Given the description of an element on the screen output the (x, y) to click on. 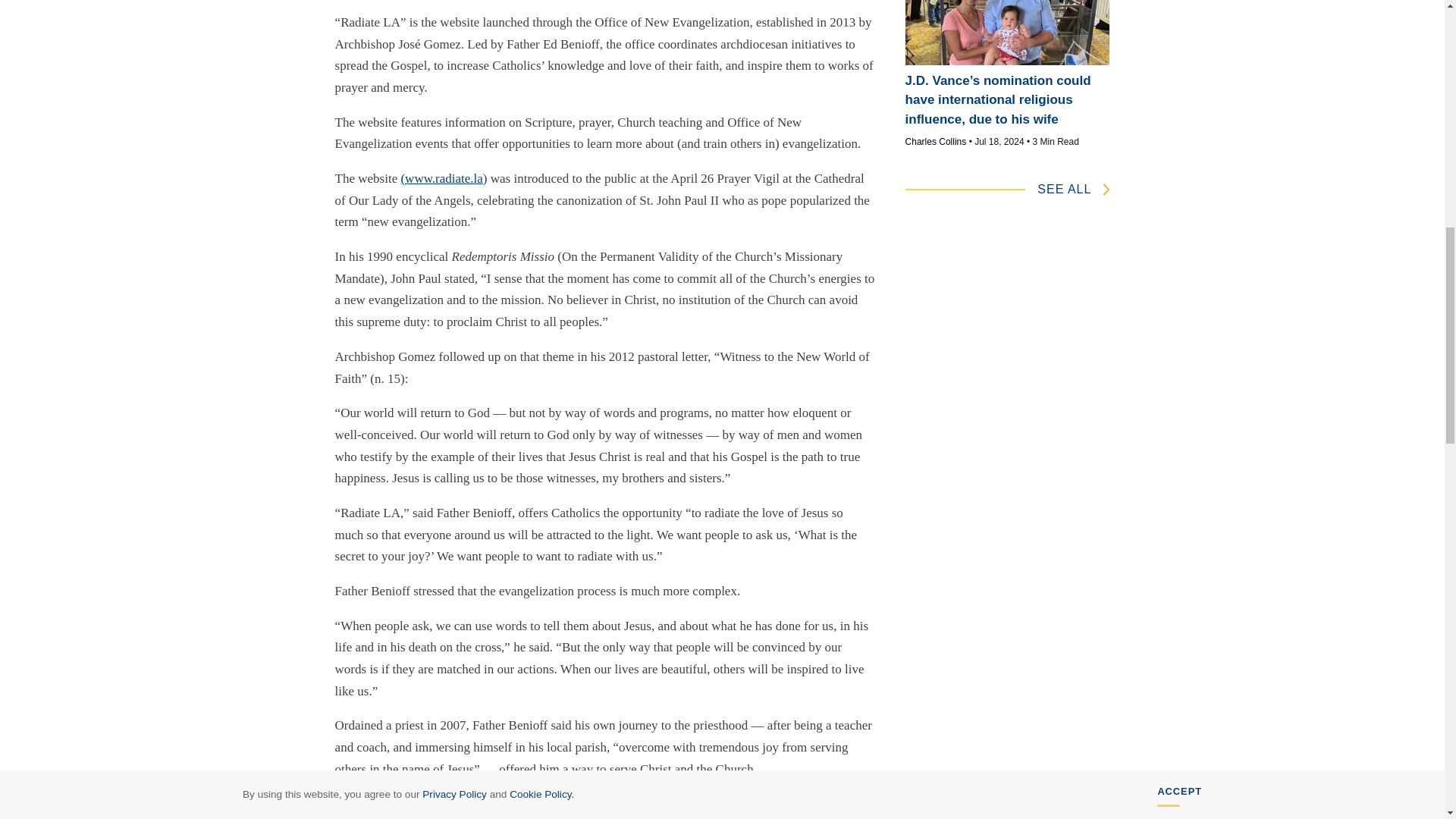
Posts by Charles Collins (935, 141)
